Given the description of an element on the screen output the (x, y) to click on. 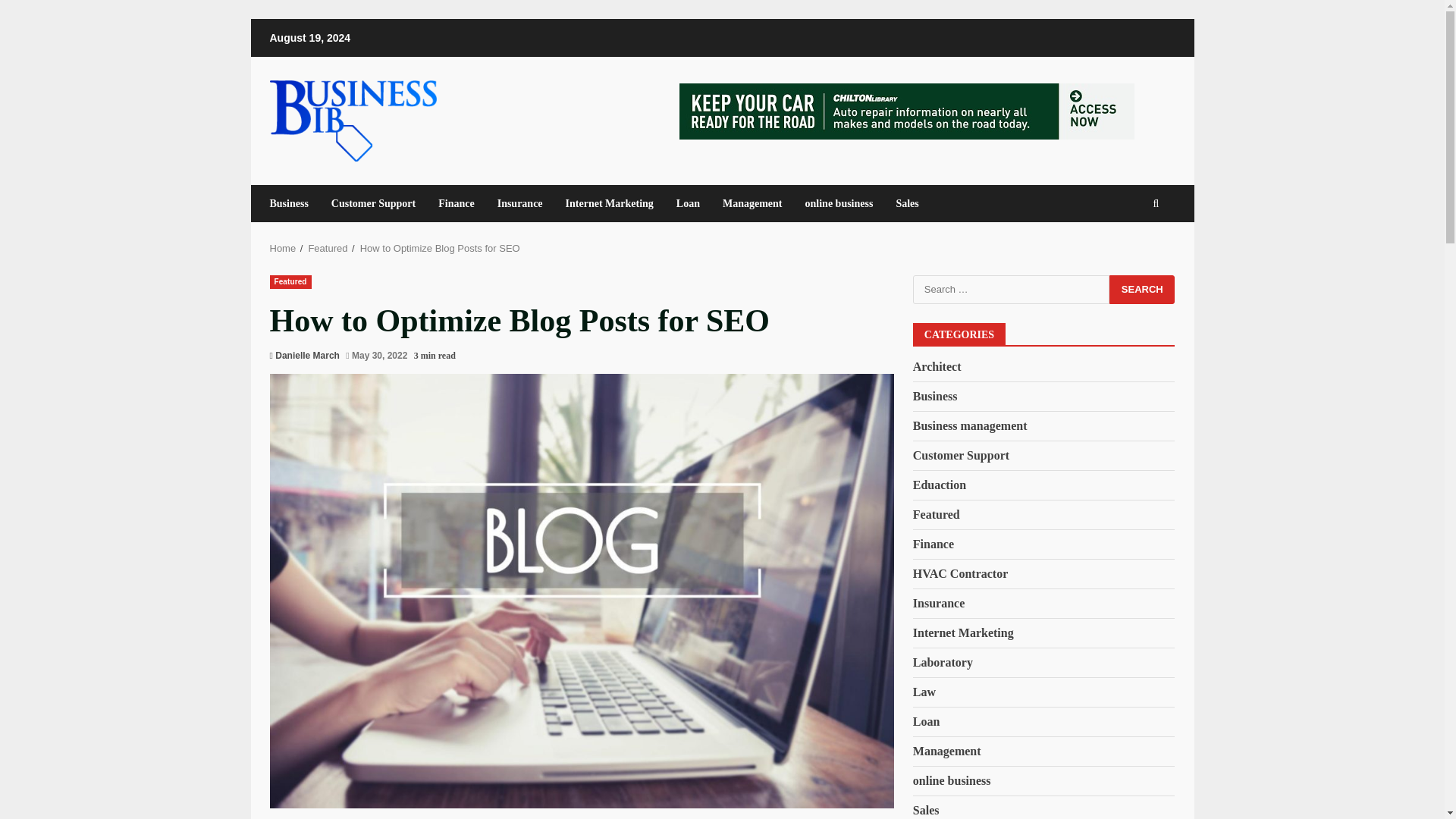
Architect (936, 366)
Customer Support (960, 455)
Search (1141, 288)
Internet Marketing (609, 203)
Search (1141, 288)
Home (283, 247)
Featured (290, 281)
Management (752, 203)
How to Optimize Blog Posts for SEO (439, 247)
Customer Support (373, 203)
